Given the description of an element on the screen output the (x, y) to click on. 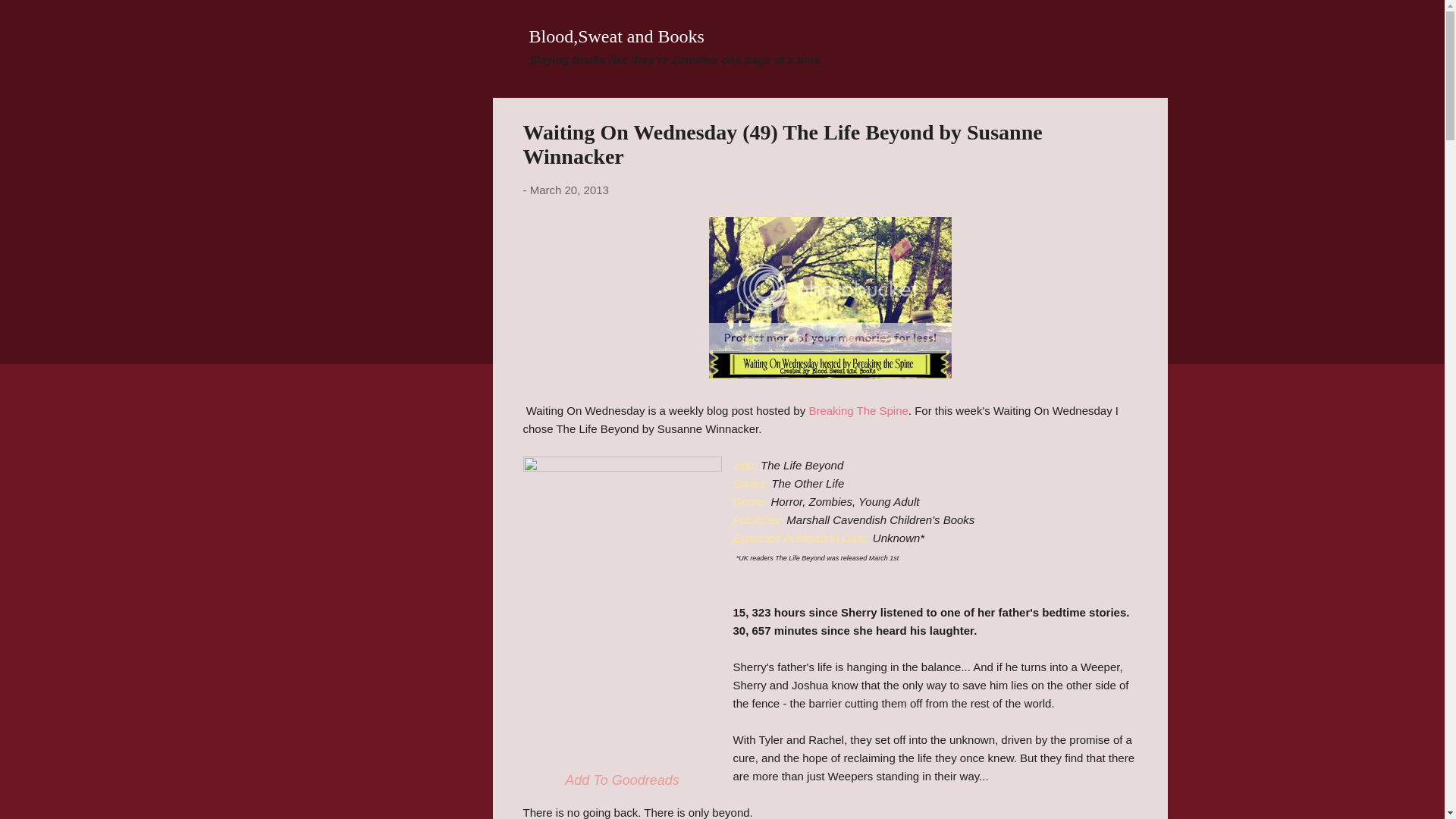
March 20, 2013 (568, 189)
Blood,Sweat and Books (616, 35)
permanent link (568, 189)
Breaking The Spine (857, 409)
Add To Goodreads (621, 779)
Search (29, 18)
